Given the description of an element on the screen output the (x, y) to click on. 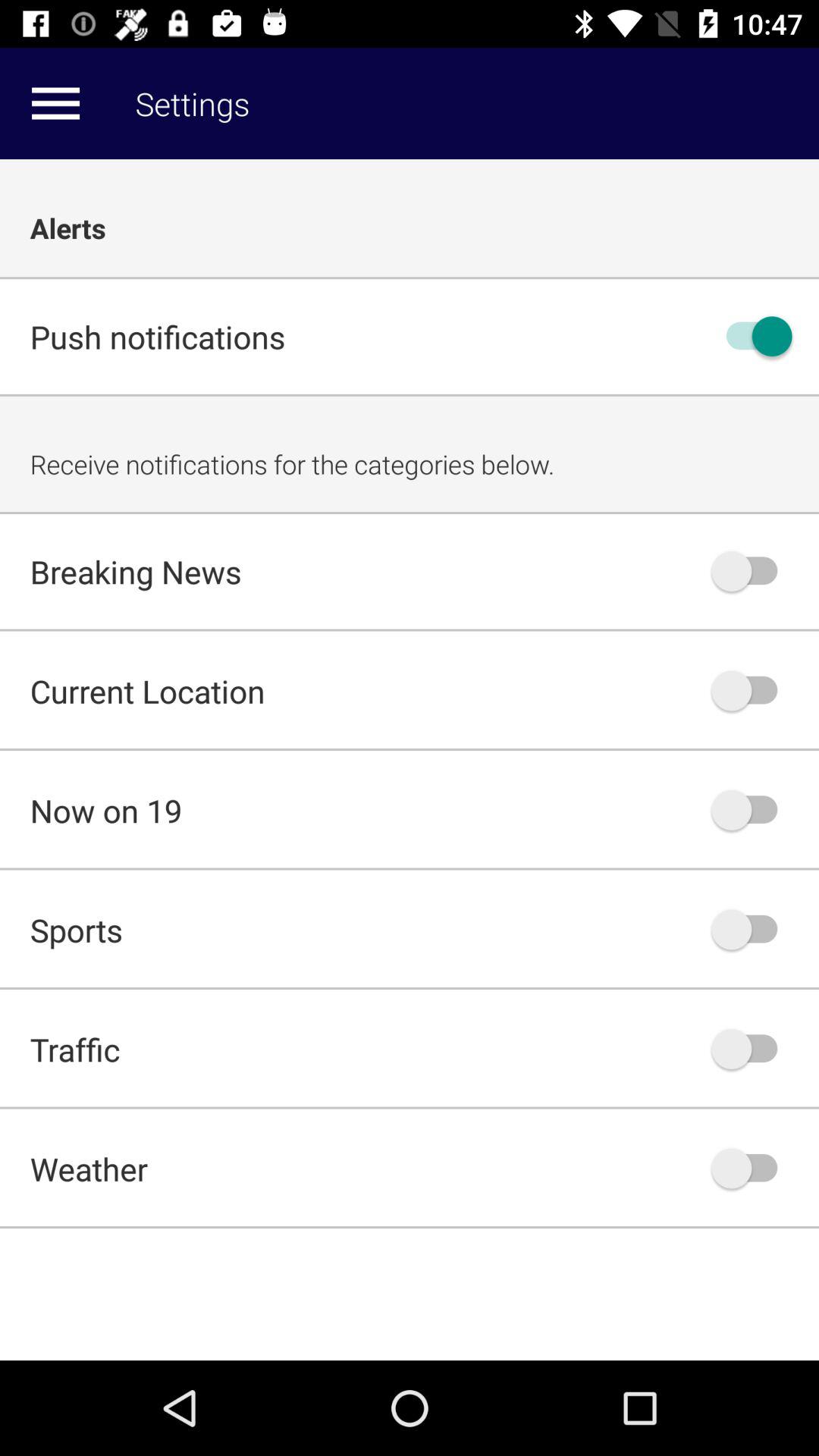
toggle option (751, 571)
